Given the description of an element on the screen output the (x, y) to click on. 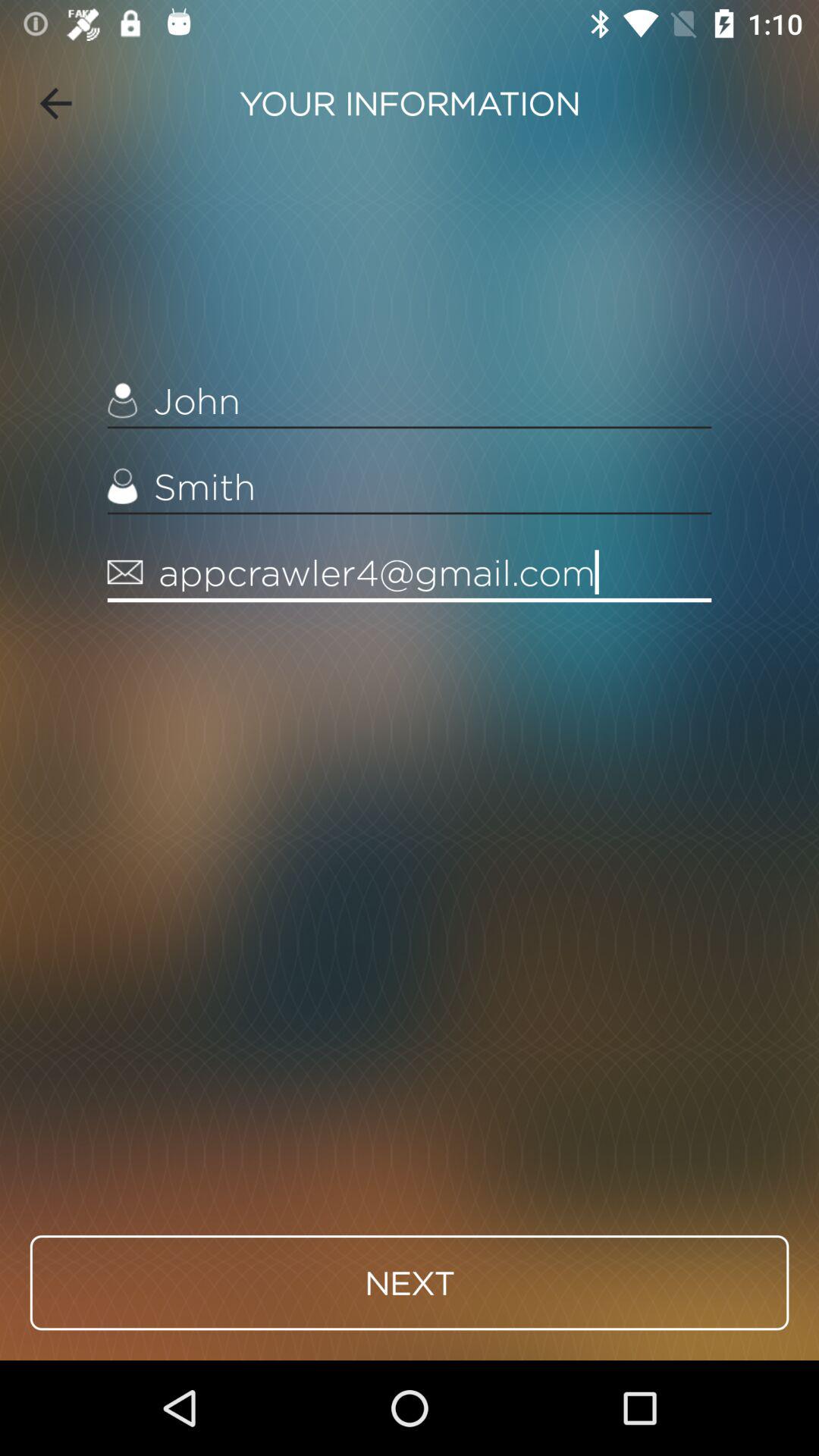
flip until the next item (409, 1282)
